Given the description of an element on the screen output the (x, y) to click on. 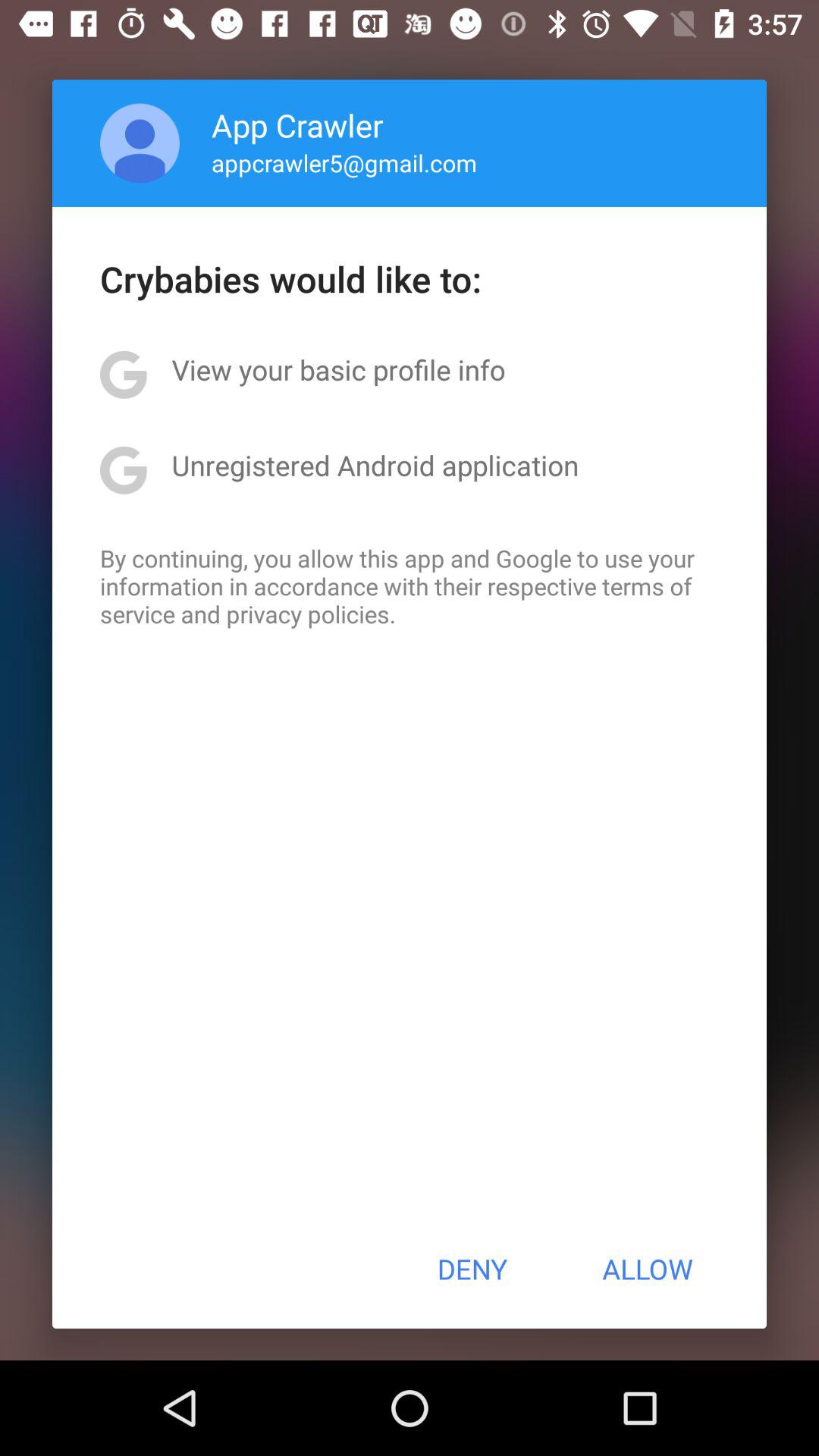
jump until the view your basic app (338, 369)
